Given the description of an element on the screen output the (x, y) to click on. 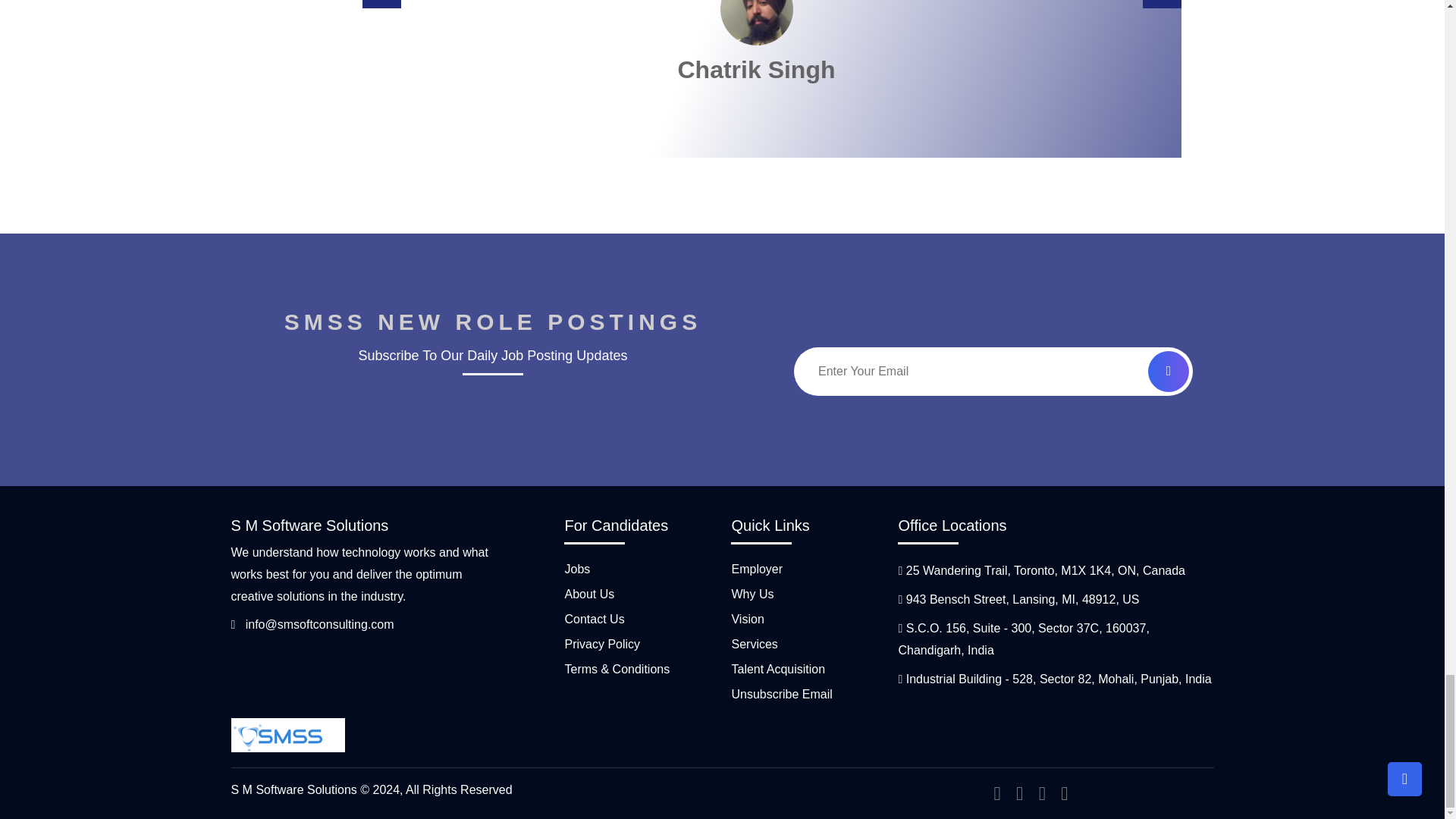
Follow Us on LinkedIn (1035, 794)
Follow Us on Twitter (1013, 794)
Follow Us on Instagram (1057, 794)
Follow Us on Facebook (990, 794)
